Given the description of an element on the screen output the (x, y) to click on. 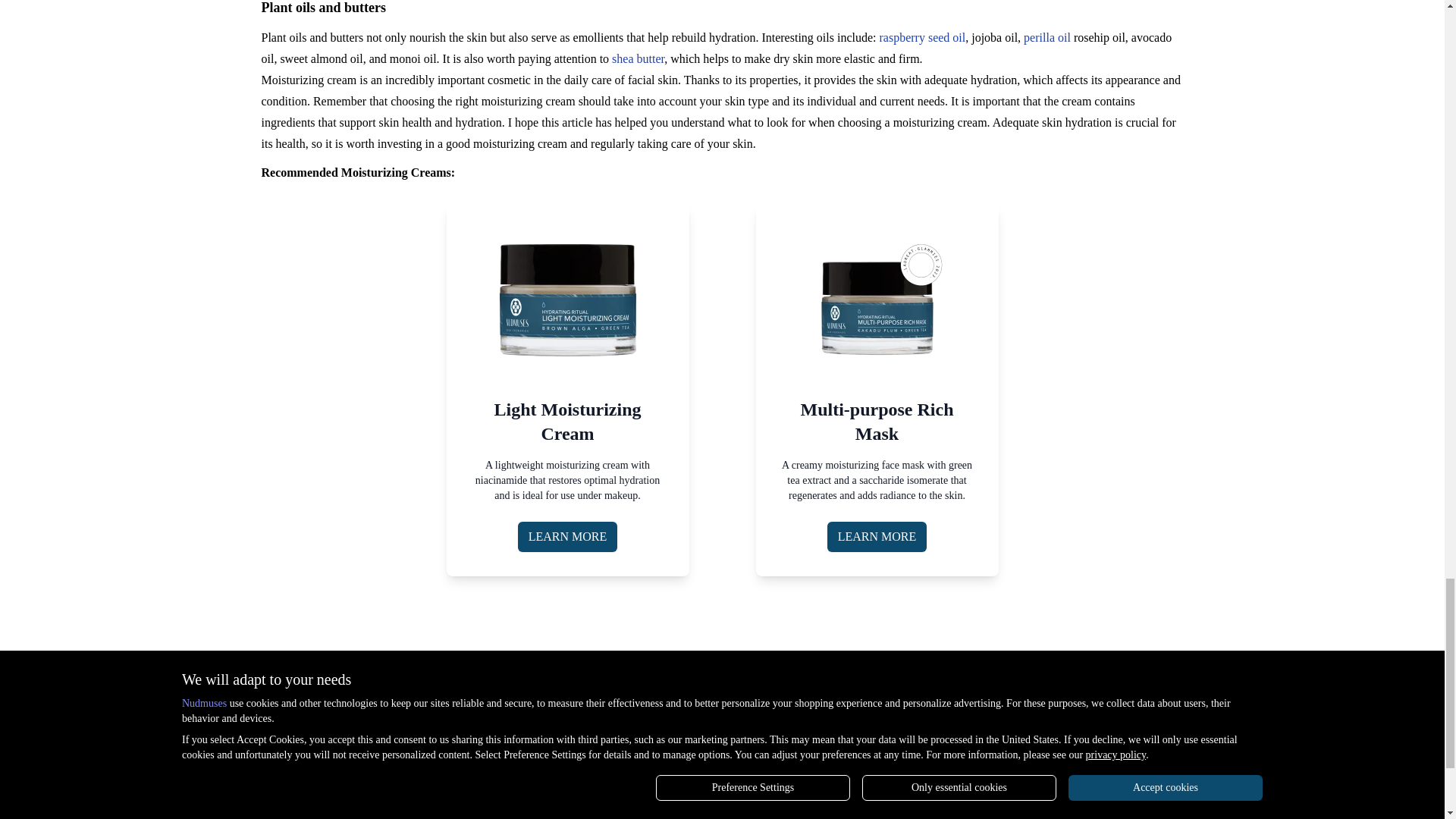
Shipping and payment (735, 715)
Contact (279, 715)
raspberry seed oil (922, 37)
About Us (283, 684)
shea butter (637, 58)
Subscribe (1108, 740)
perilla oil (1046, 37)
Privacy Policy (507, 715)
